Given the description of an element on the screen output the (x, y) to click on. 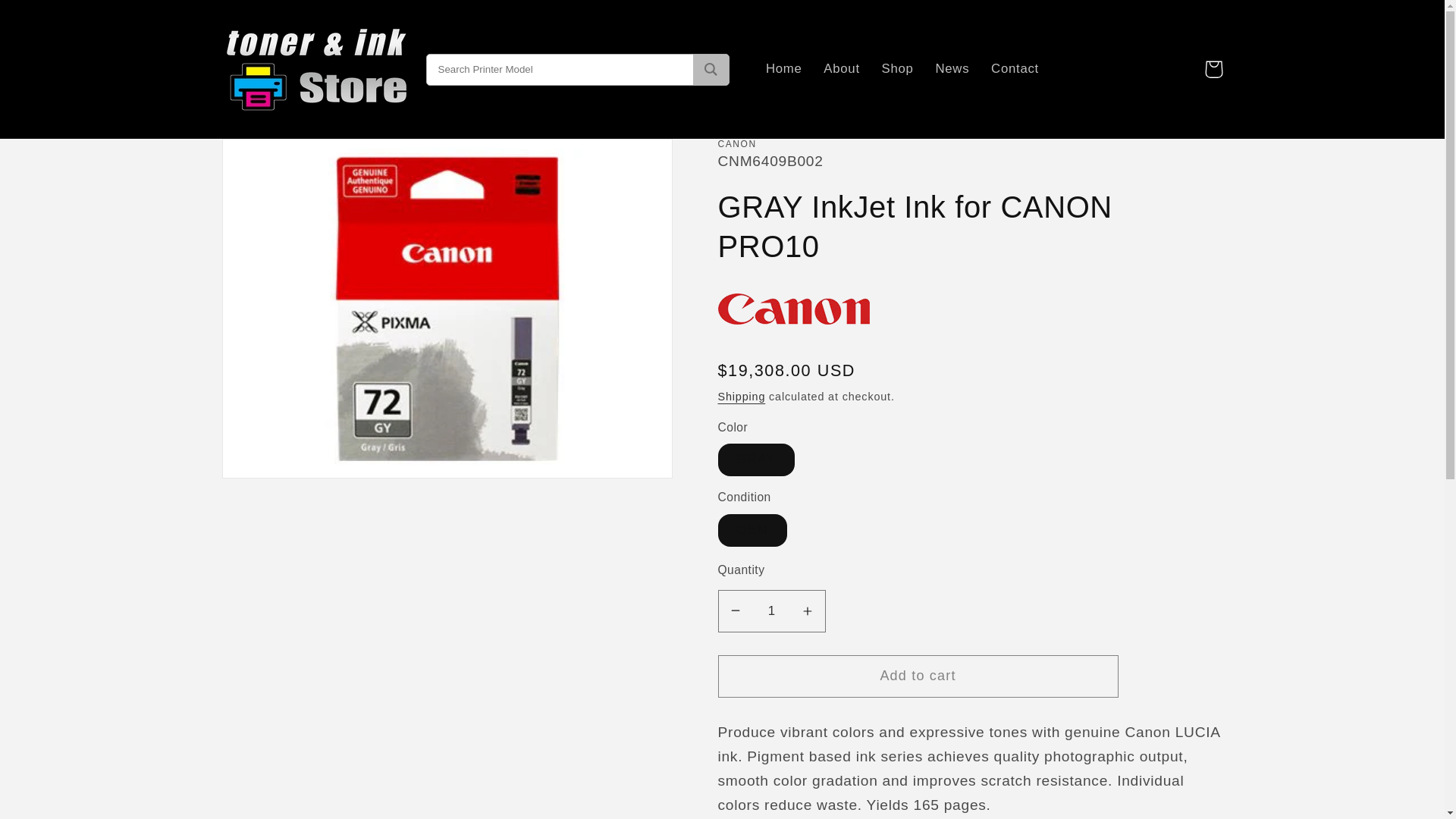
1 (771, 610)
News (951, 69)
Shipping (741, 396)
Shop (897, 69)
Skip to content (55, 20)
Cart (1213, 69)
About (841, 69)
Skip to product information (276, 159)
Contact (1014, 69)
